Given the description of an element on the screen output the (x, y) to click on. 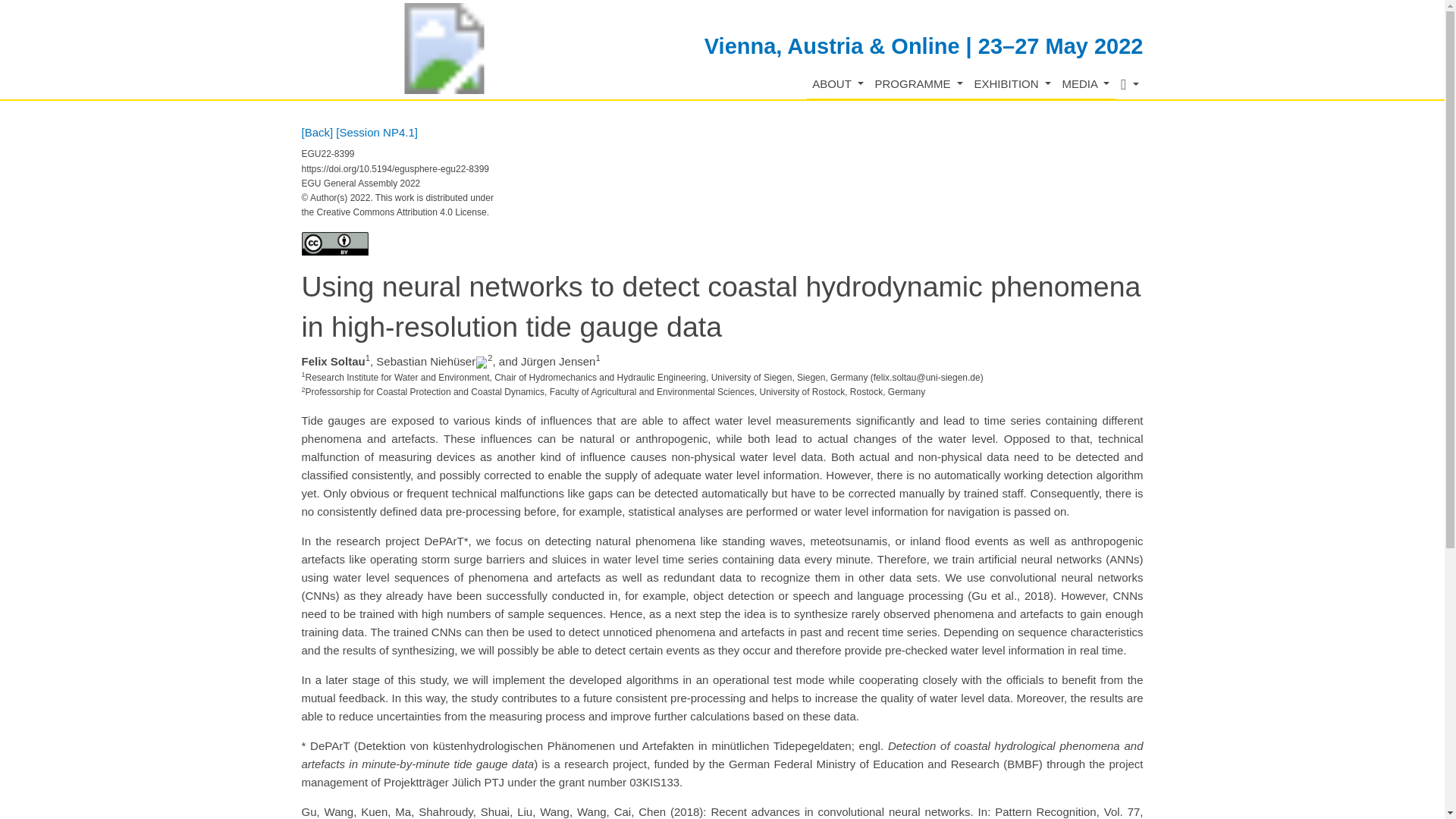
MEDIA (1086, 83)
EXHIBITION (1012, 83)
PROGRAMME (918, 83)
ABOUT (837, 83)
